Given the description of an element on the screen output the (x, y) to click on. 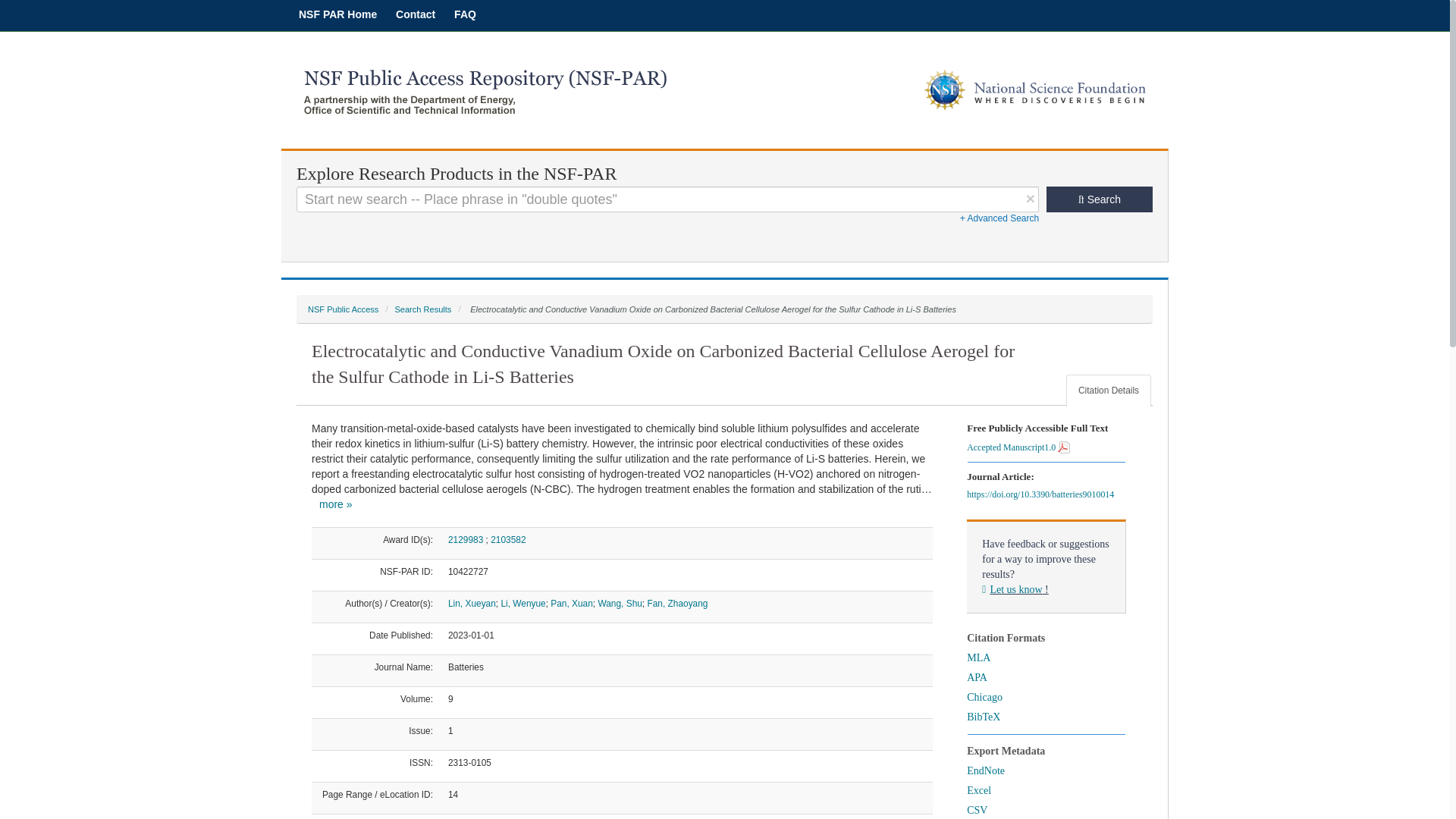
2129983 (465, 539)
NSF Public Access (342, 308)
Li, Wenyue (522, 603)
Search (1099, 199)
2103582 (507, 539)
Citation Details (1108, 390)
Search Results (422, 308)
NSF PAR Home (337, 14)
NSF PAR FAQ (464, 14)
FAQ (464, 14)
NSF PAR Contact (415, 14)
NSF PAR Home (337, 14)
Lin, Xueyan (472, 603)
Contact (415, 14)
Pan, Xuan (571, 603)
